Given the description of an element on the screen output the (x, y) to click on. 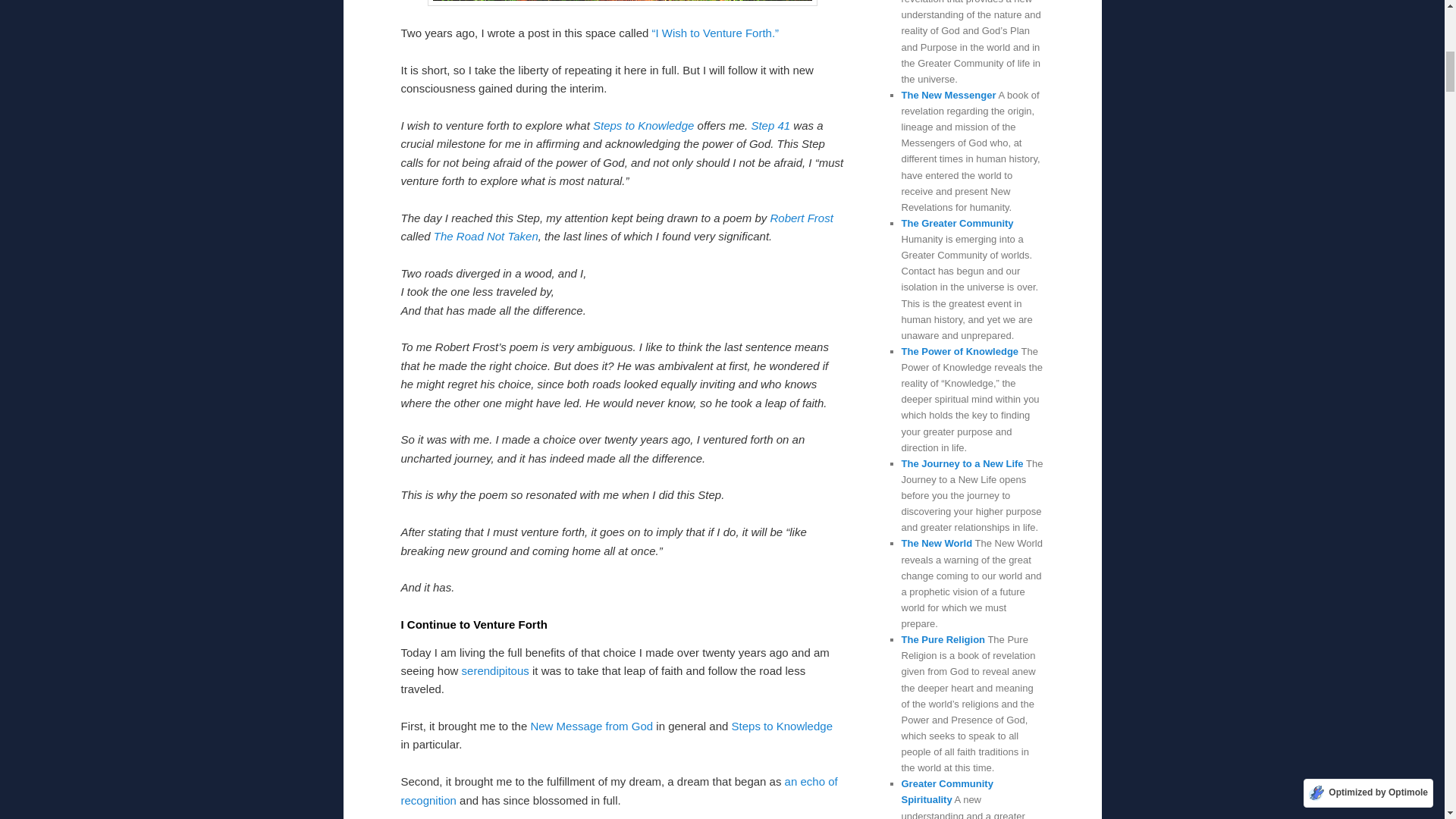
an echo of recognition (618, 789)
serendipitous (495, 670)
Poetry Foundation: Poems and Poets: Robert Frost (801, 217)
The New Message from God: Steps to Knowledge (643, 124)
Step 41 (770, 124)
Steps to Knowledge (782, 725)
Robert Frost (801, 217)
Ascending Knowledge: Posts tagged 'Step 41' (770, 124)
New Message from God (590, 725)
The Road Not Taken (485, 236)
Steps to Knowledge (643, 124)
